Given the description of an element on the screen output the (x, y) to click on. 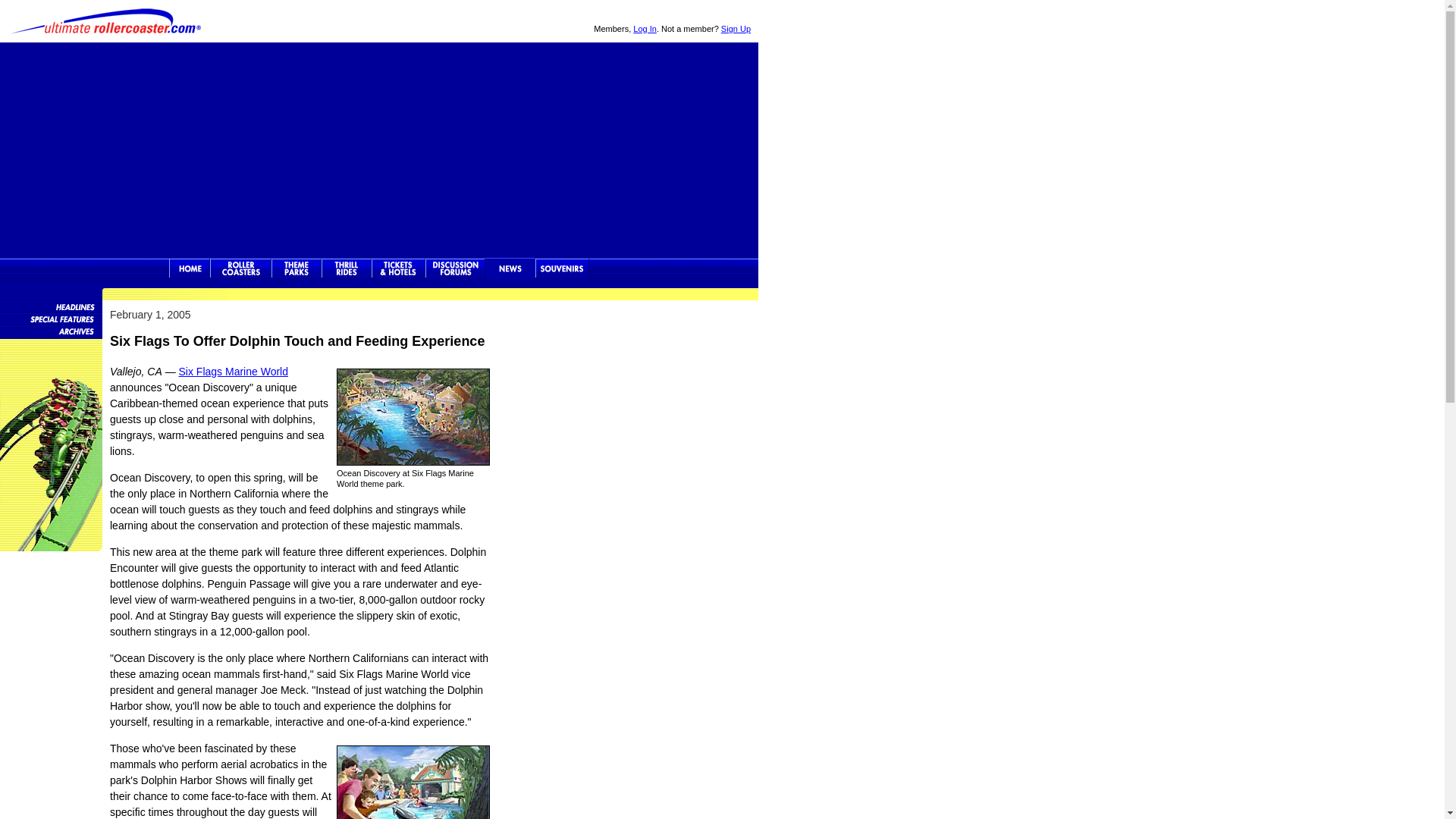
Ultimate Rollercoaster (188, 268)
Discussion Forums (454, 268)
Advertisement (379, 148)
Theme Parks (295, 268)
News Archives (51, 330)
Thrill Rides (346, 268)
Special Features (51, 317)
Log In (644, 28)
Souvenirs (562, 268)
Advertisement (627, 413)
News (509, 268)
Six Flags Marine World (233, 371)
Ultimate Rollercoaster (105, 21)
Rollercoasters (239, 268)
Sign Up (735, 28)
